Given the description of an element on the screen output the (x, y) to click on. 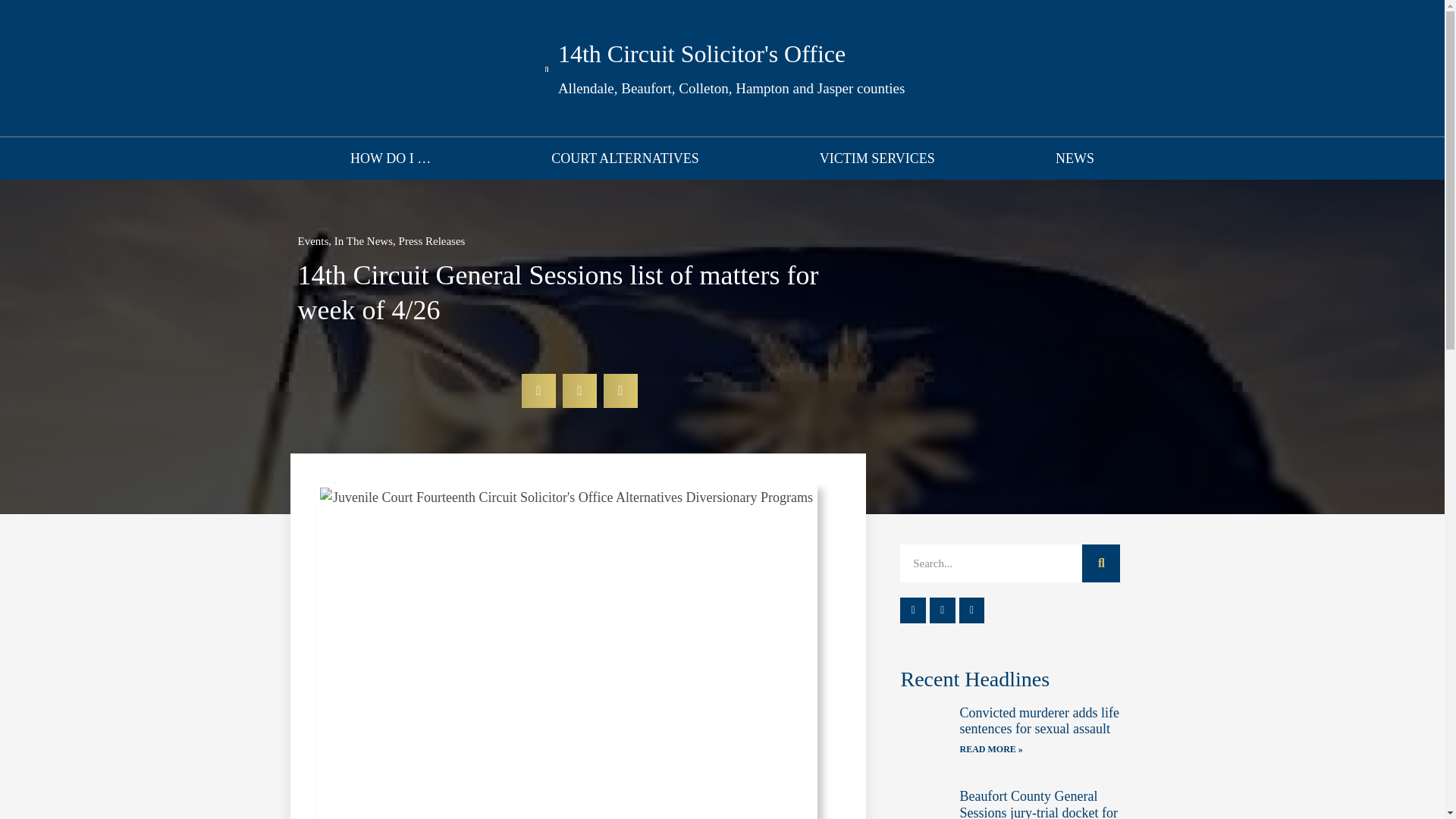
NEWS (1074, 158)
COURT ALTERNATIVES (626, 158)
VICTIM SERVICES (876, 158)
